Given the description of an element on the screen output the (x, y) to click on. 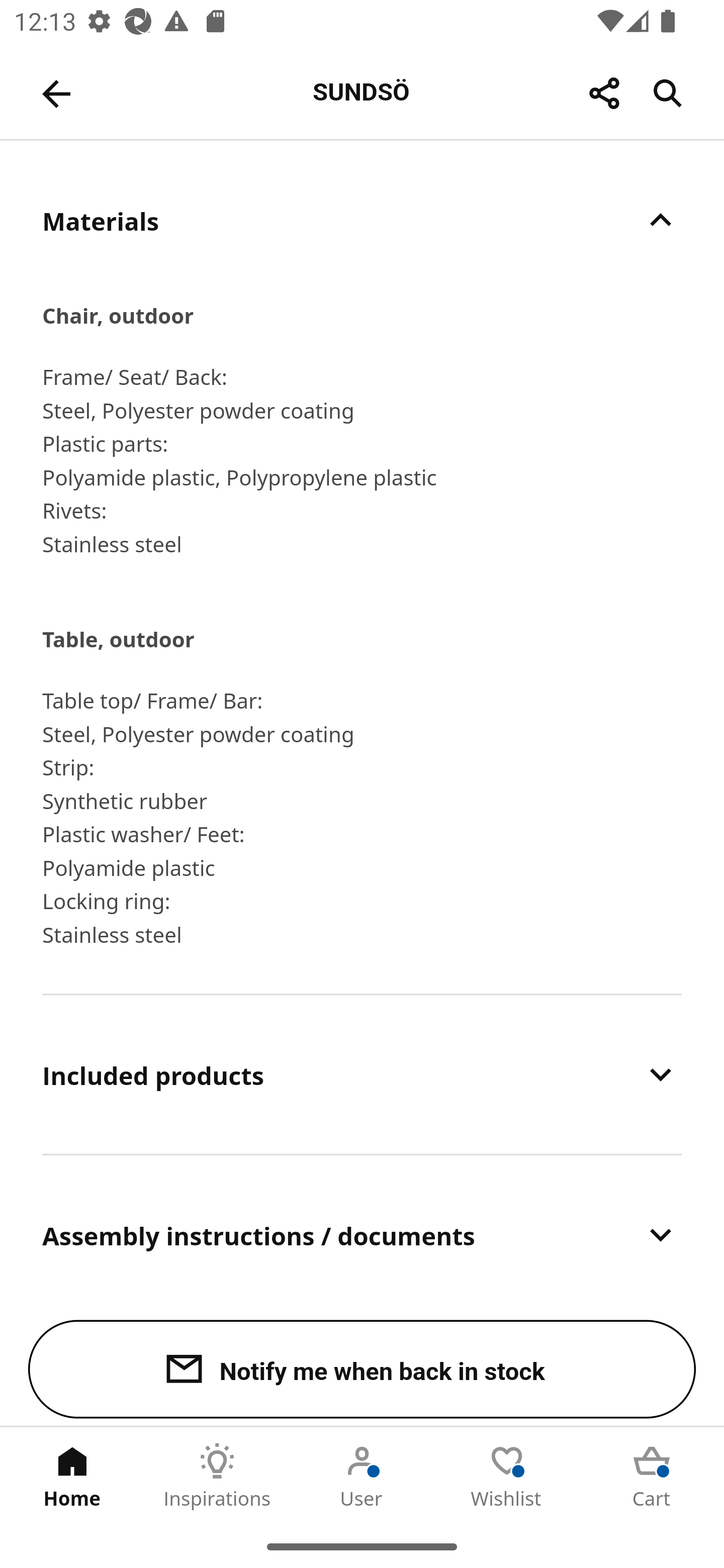
Materials (361, 219)
Included products (361, 1074)
Assembly instructions / documents (361, 1234)
Notify me when back in stock (361, 1369)
Home
Tab 1 of 5 (72, 1476)
Inspirations
Tab 2 of 5 (216, 1476)
User
Tab 3 of 5 (361, 1476)
Wishlist
Tab 4 of 5 (506, 1476)
Cart
Tab 5 of 5 (651, 1476)
